Given the description of an element on the screen output the (x, y) to click on. 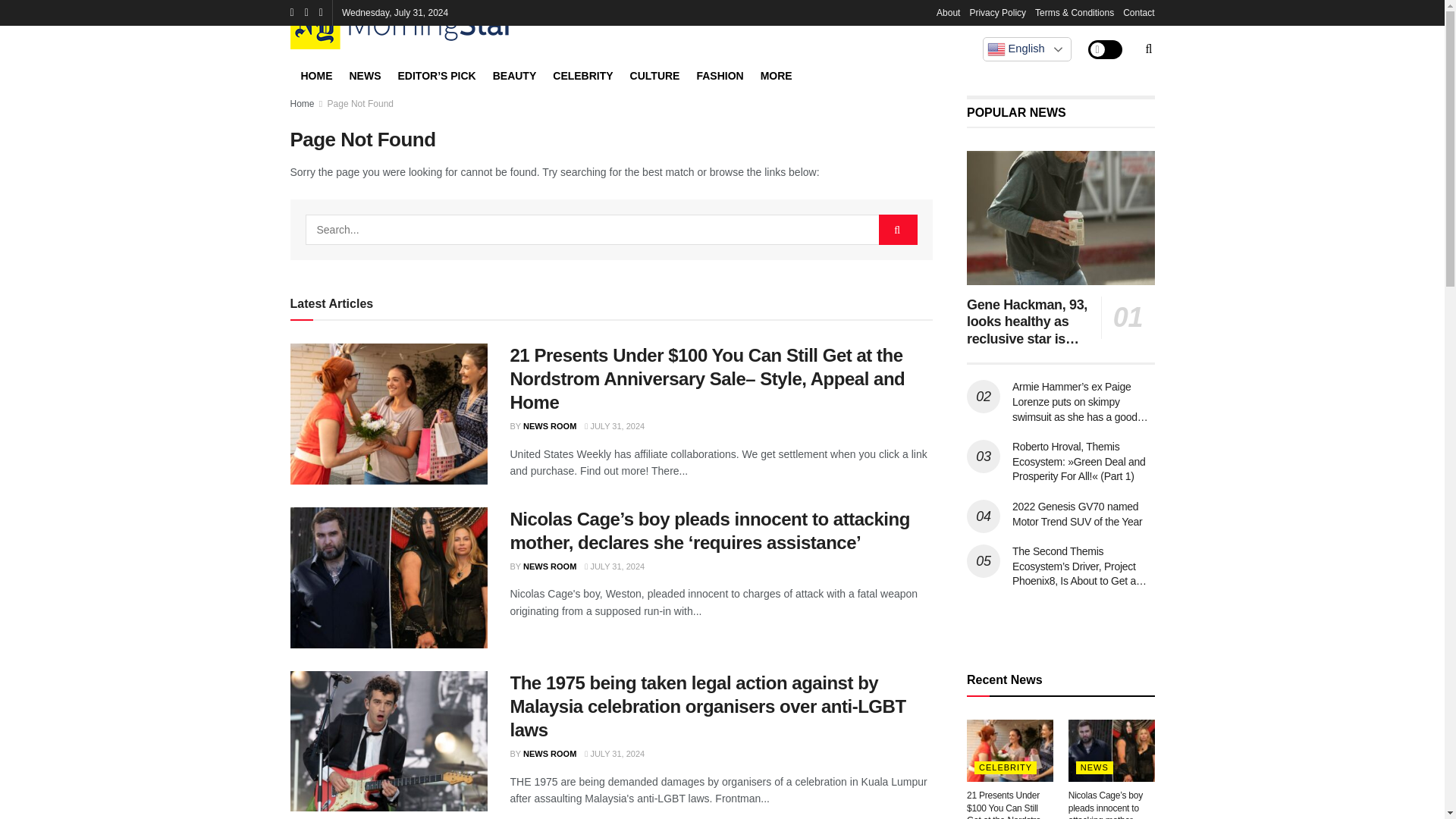
CULTURE (654, 74)
Home (301, 103)
Page Not Found (360, 103)
FASHION (718, 74)
English (1026, 48)
Contact (1138, 12)
BEAUTY (515, 74)
About (947, 12)
Privacy Policy (997, 12)
CELEBRITY (582, 74)
